Given the description of an element on the screen output the (x, y) to click on. 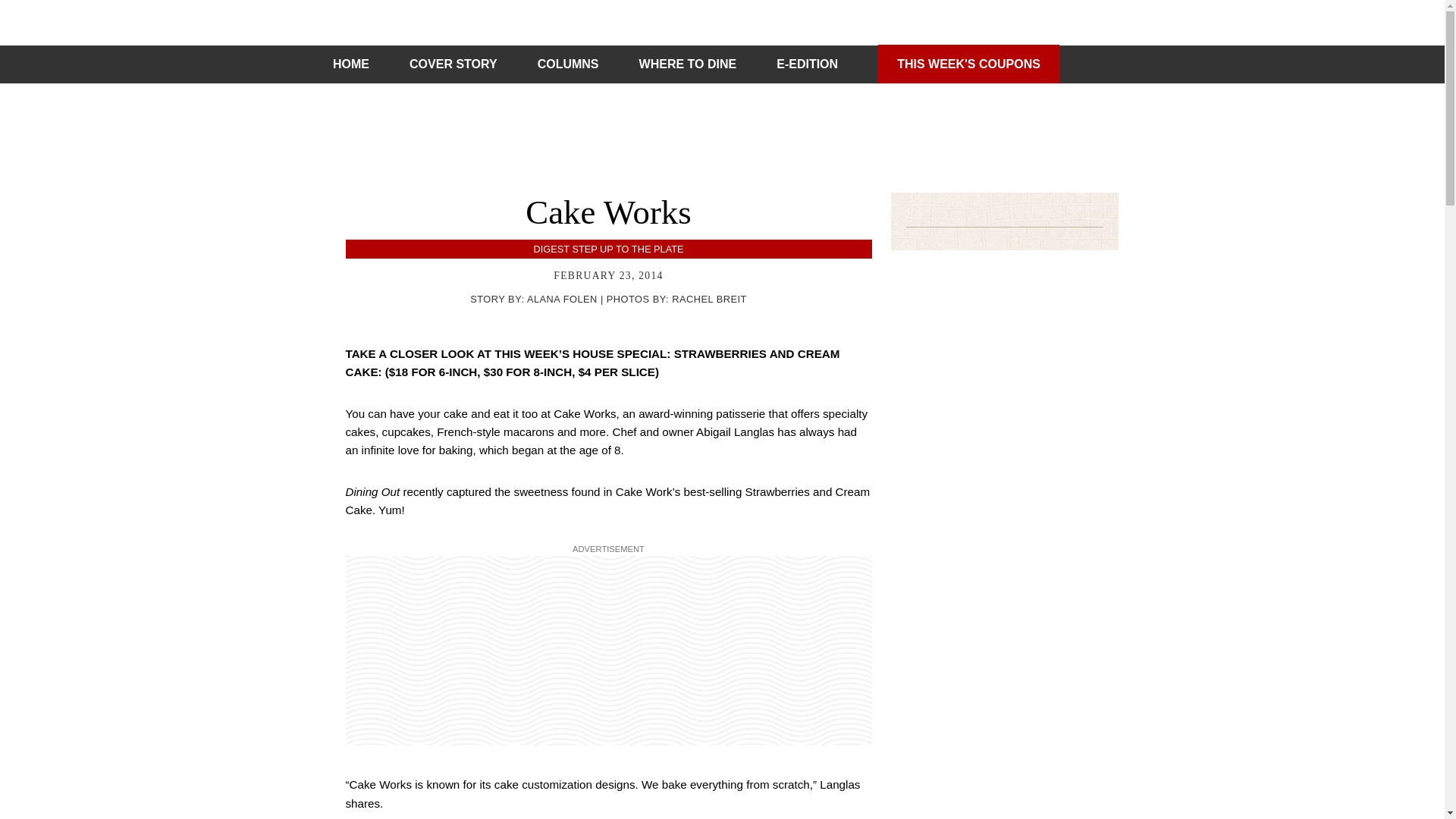
Digest (550, 248)
Step Up to the Plate (627, 248)
THIS WEEK'S COUPONS (968, 64)
WHERE TO DINE (687, 63)
DIGEST (550, 248)
COVER STORY (453, 63)
STEP UP TO THE PLATE (627, 248)
HOME (351, 63)
